Given the description of an element on the screen output the (x, y) to click on. 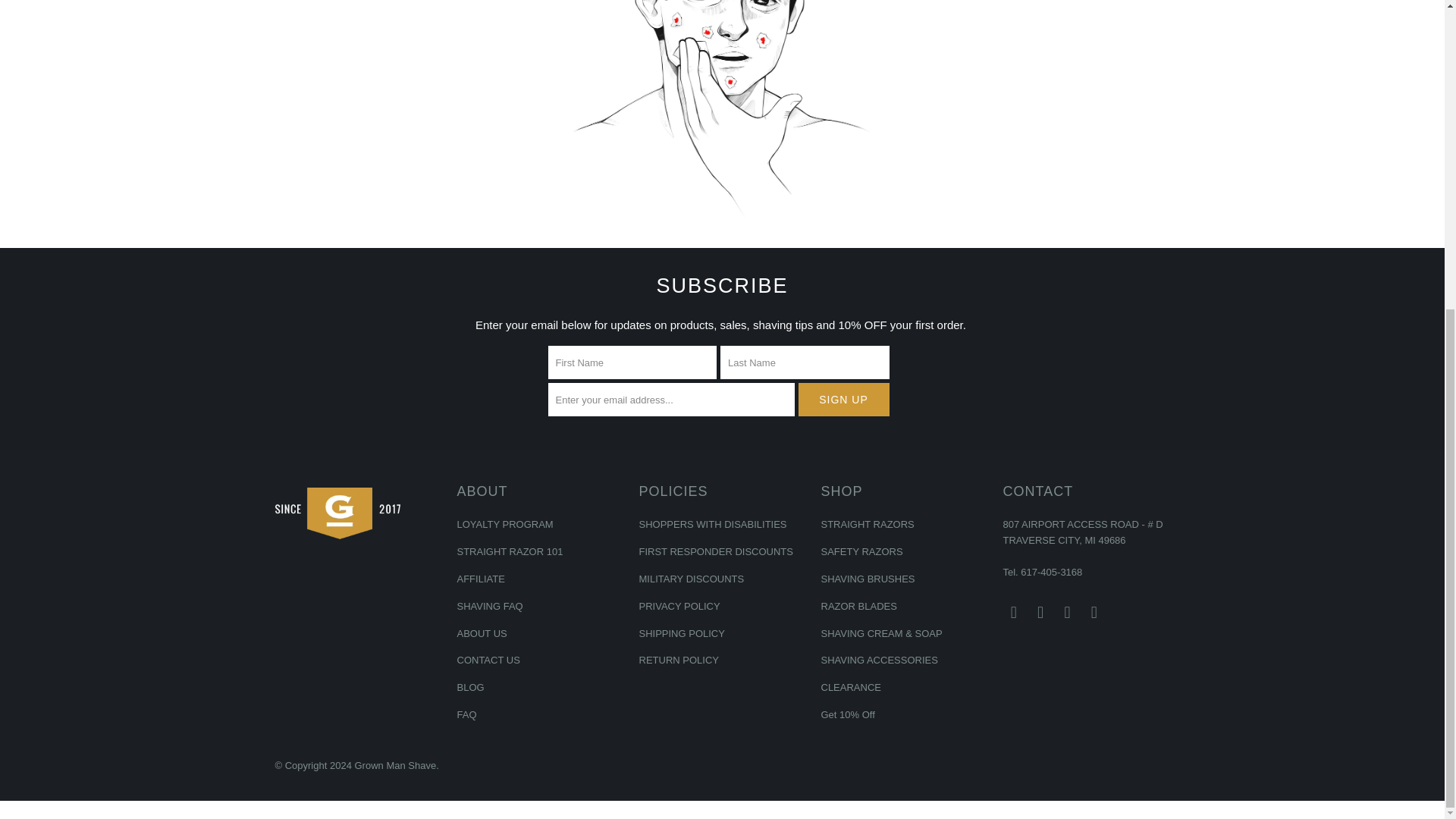
Grown Man Shave on Twitter (1014, 612)
Email Grown Man Shave (1094, 612)
Grown Man Shave on Facebook (1040, 612)
Grown Man Shave on Instagram (1067, 612)
Sign Up (842, 399)
